Given the description of an element on the screen output the (x, y) to click on. 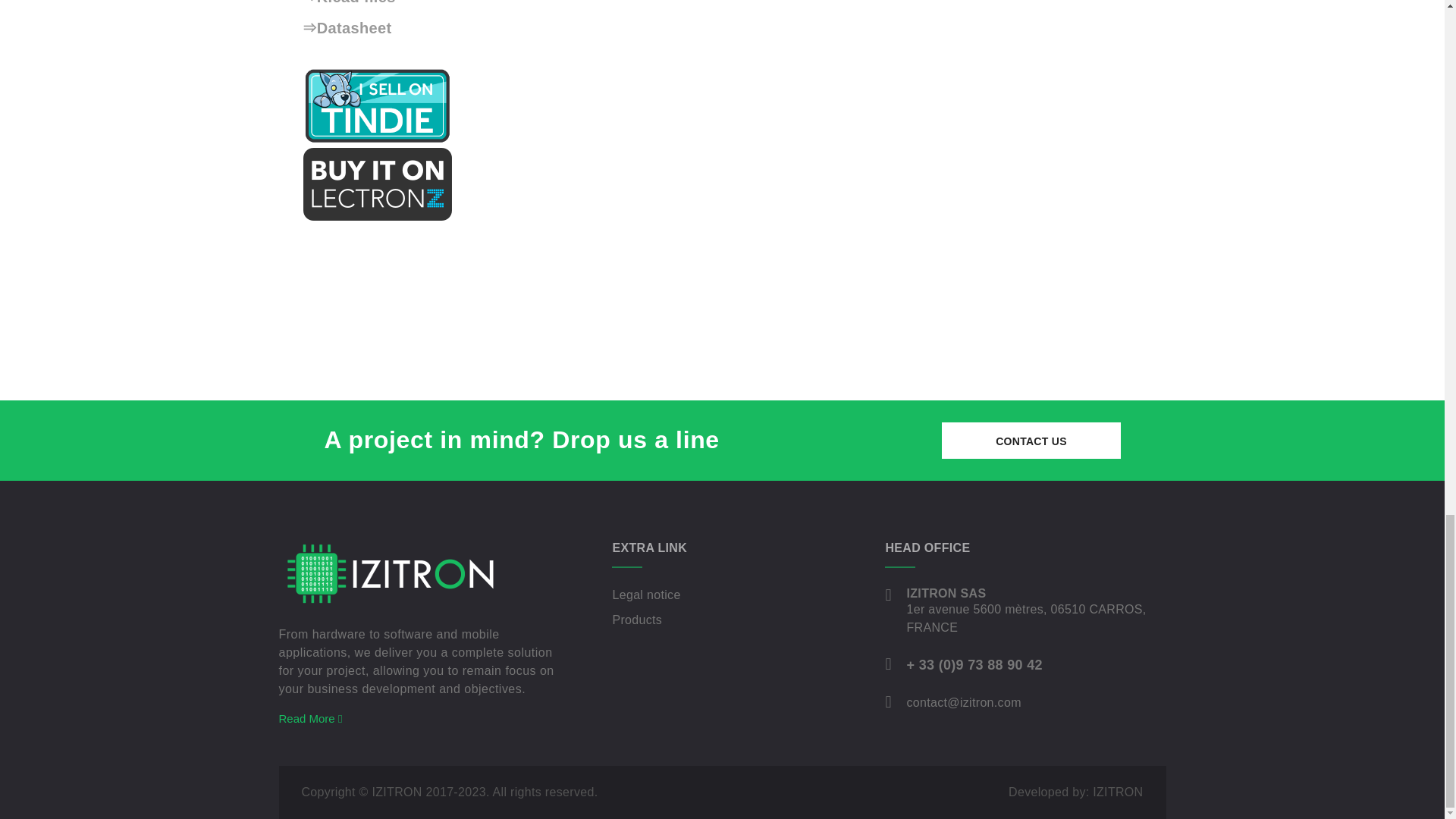
IZITRON (419, 573)
Products (636, 619)
Read More (310, 717)
Legal notice (645, 594)
CONTACT US (1031, 440)
